Given the description of an element on the screen output the (x, y) to click on. 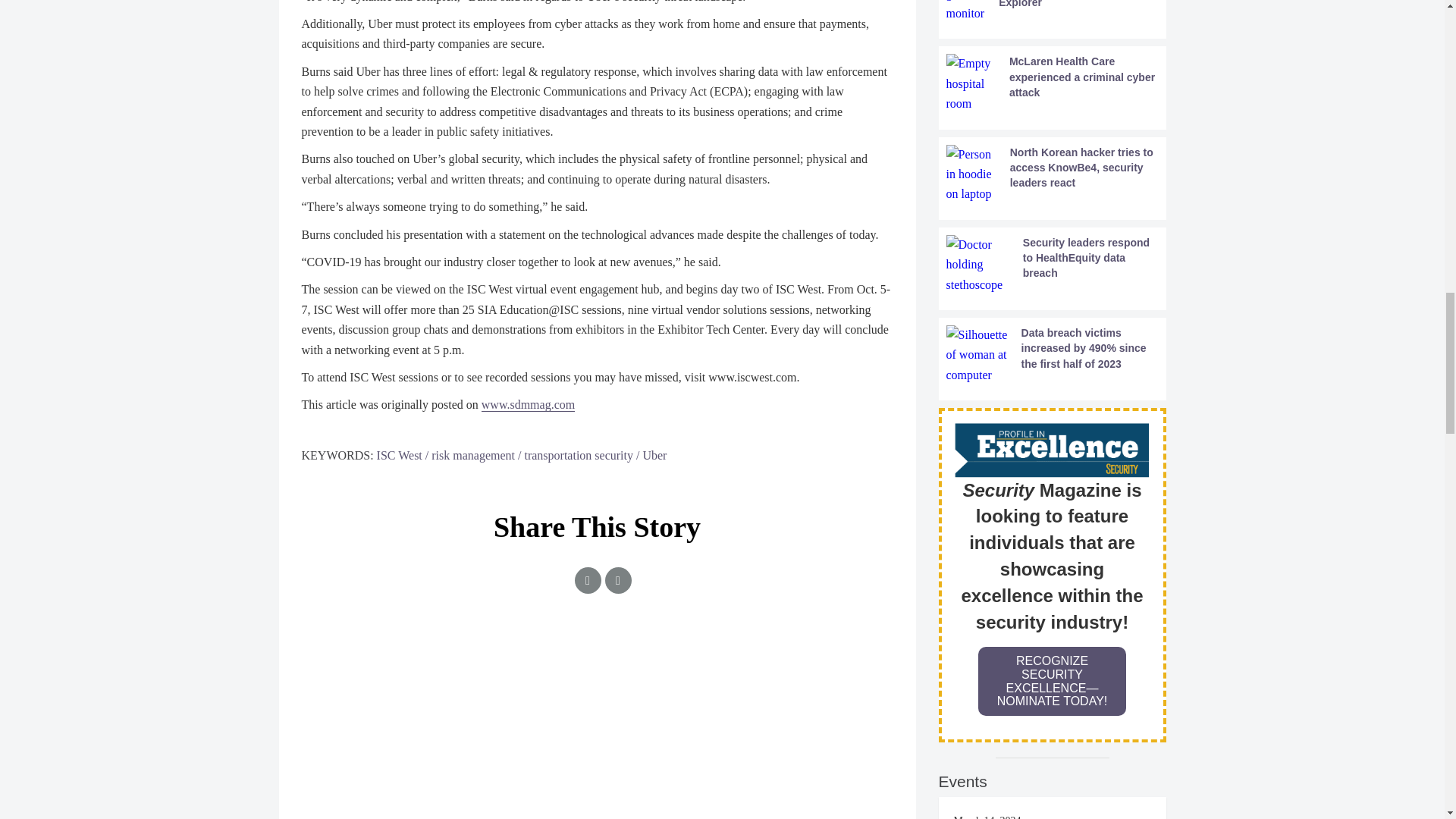
Interaction questions (597, 698)
McLaren Health Care experienced a criminal cyber attack (1052, 83)
Security leaders respond to HealthEquity data breach (1052, 264)
